Given the description of an element on the screen output the (x, y) to click on. 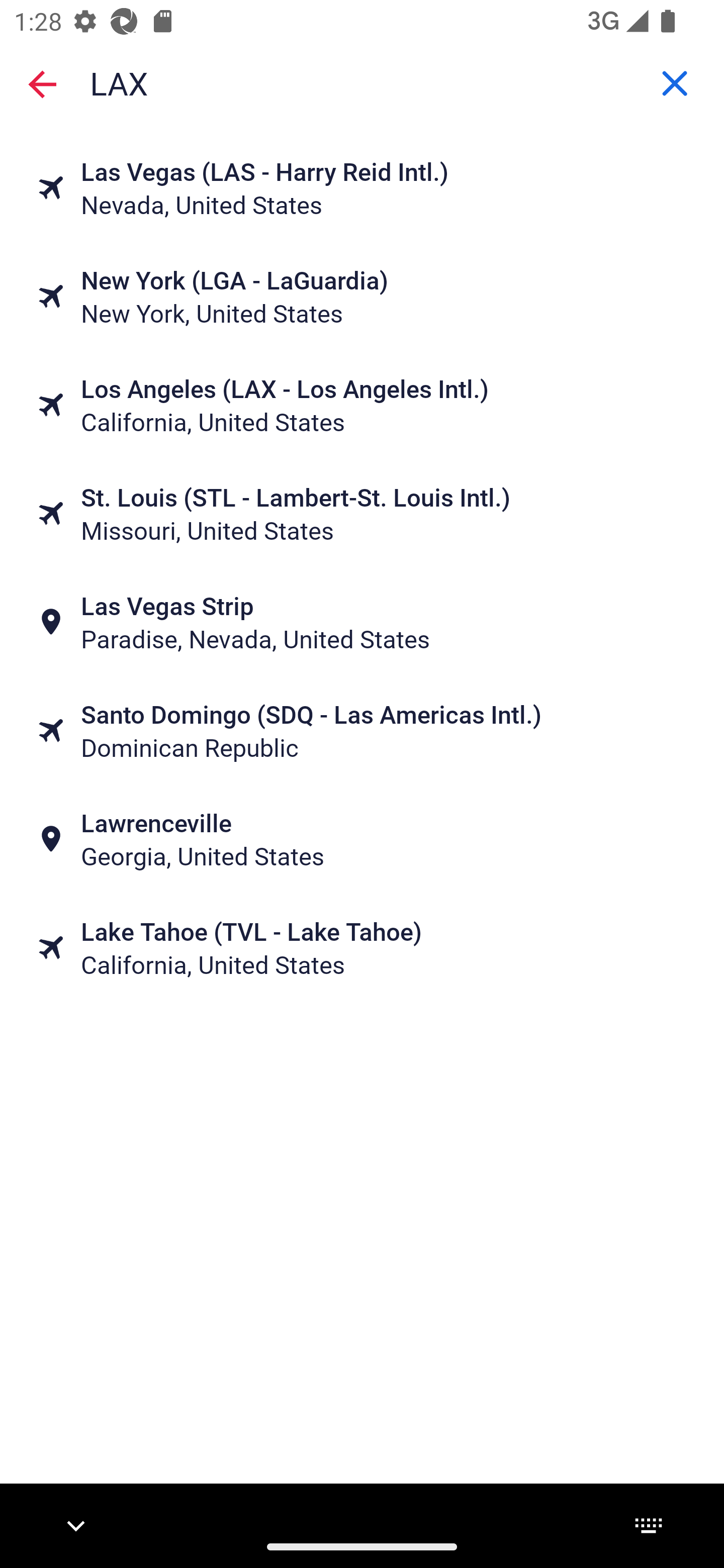
Close search screen (42, 84)
Clear Drop-off (674, 82)
Drop-off, LAX (361, 82)
